Given the description of an element on the screen output the (x, y) to click on. 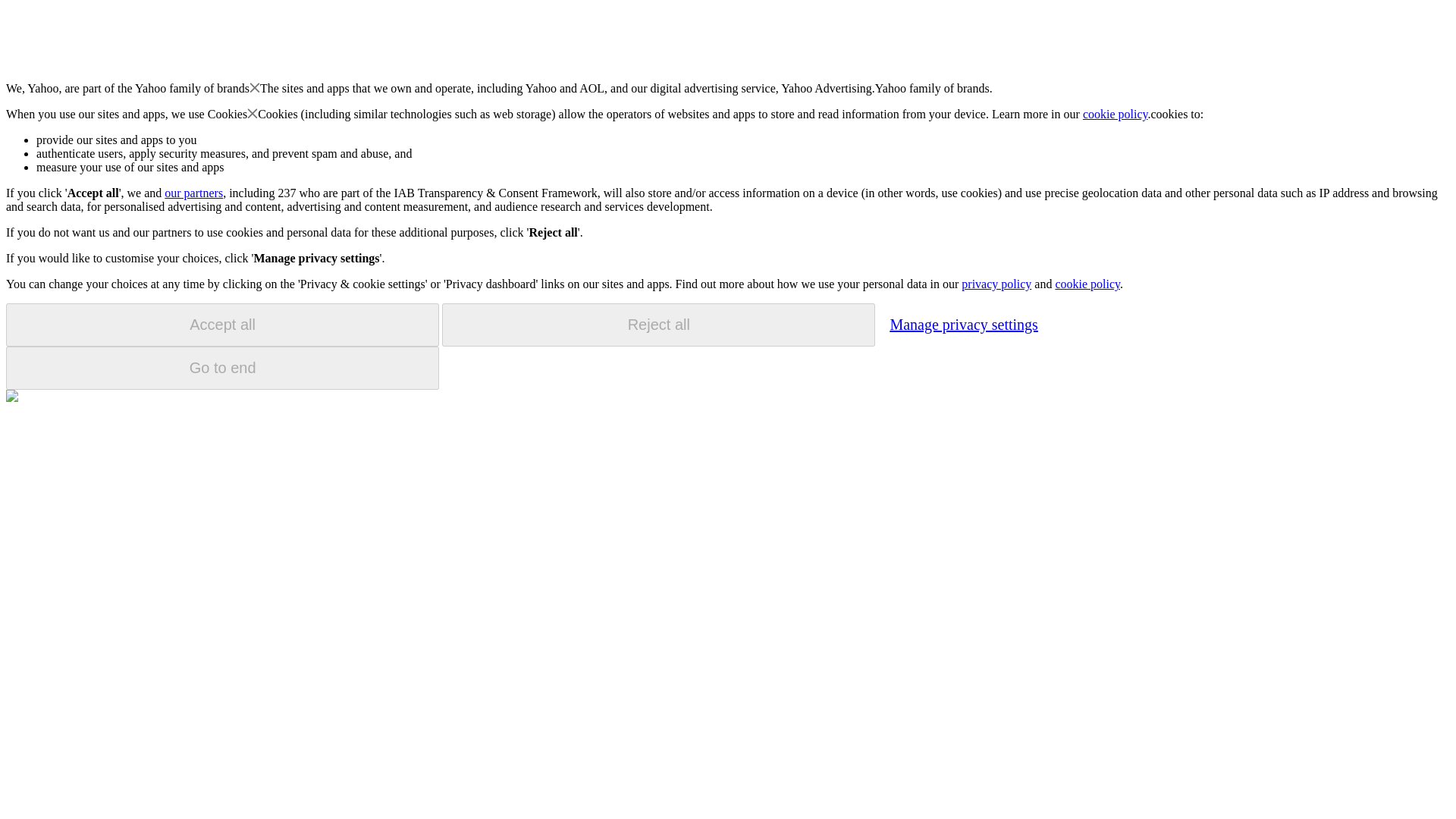
Go to end (222, 367)
our partners (193, 192)
cookie policy (1115, 113)
Manage privacy settings (963, 323)
Reject all (658, 324)
Accept all (222, 324)
cookie policy (1086, 283)
privacy policy (995, 283)
